Given the description of an element on the screen output the (x, y) to click on. 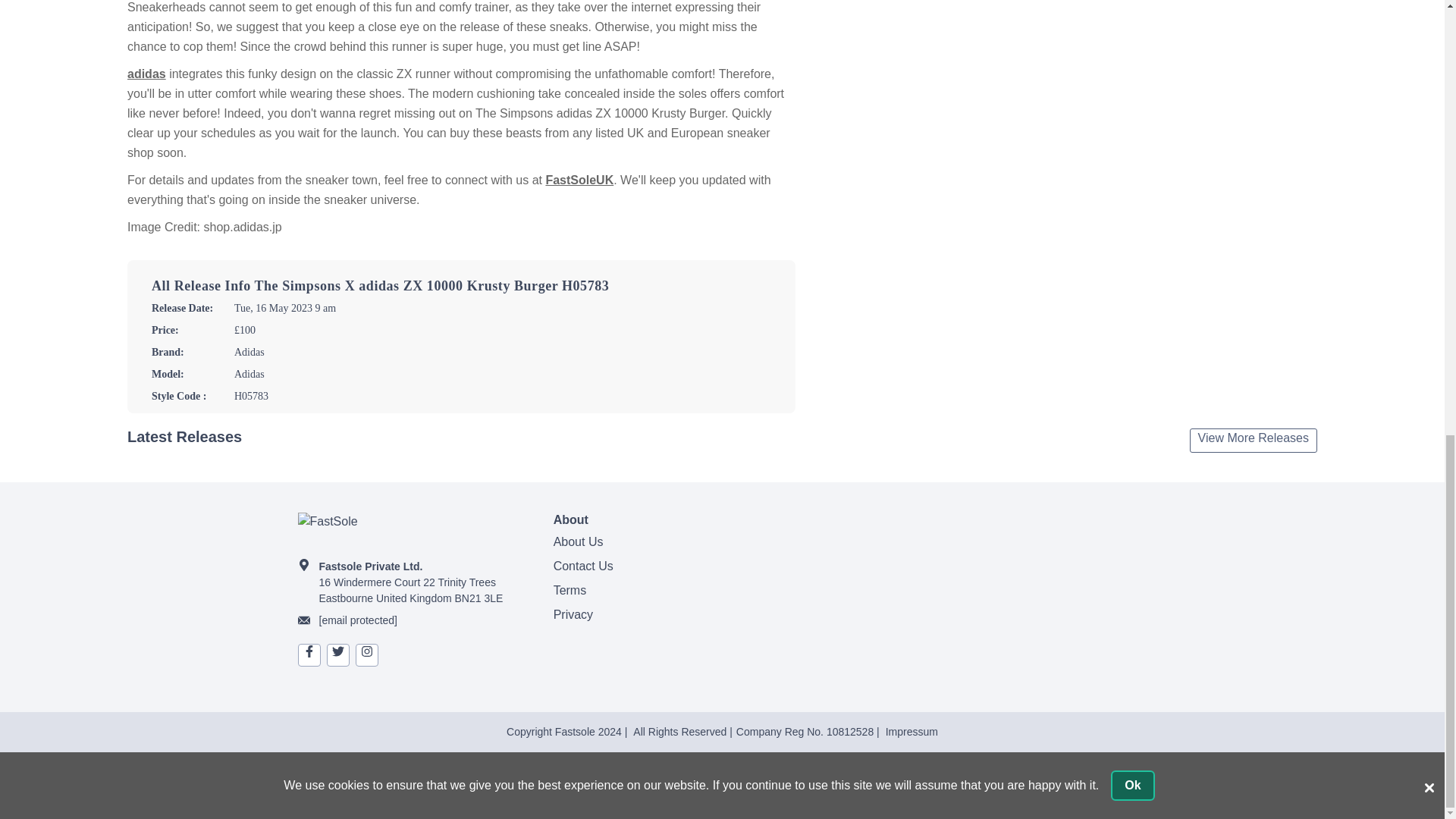
FastSole (412, 529)
